Given the description of an element on the screen output the (x, y) to click on. 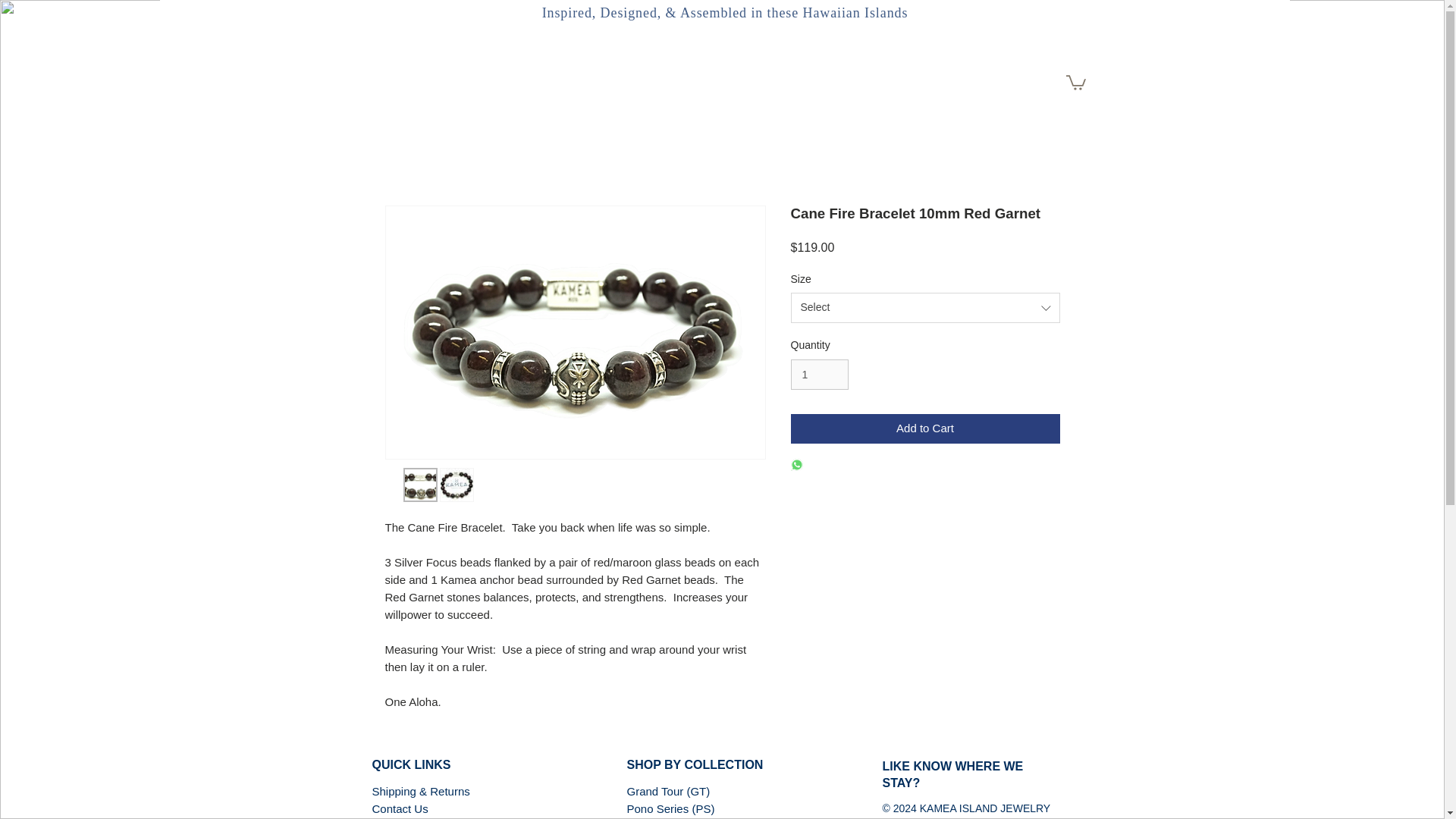
SHOP BY COLLECTION (694, 764)
Select (924, 307)
Add to Cart (924, 428)
1 (818, 374)
Contact Us (399, 808)
